Given the description of an element on the screen output the (x, y) to click on. 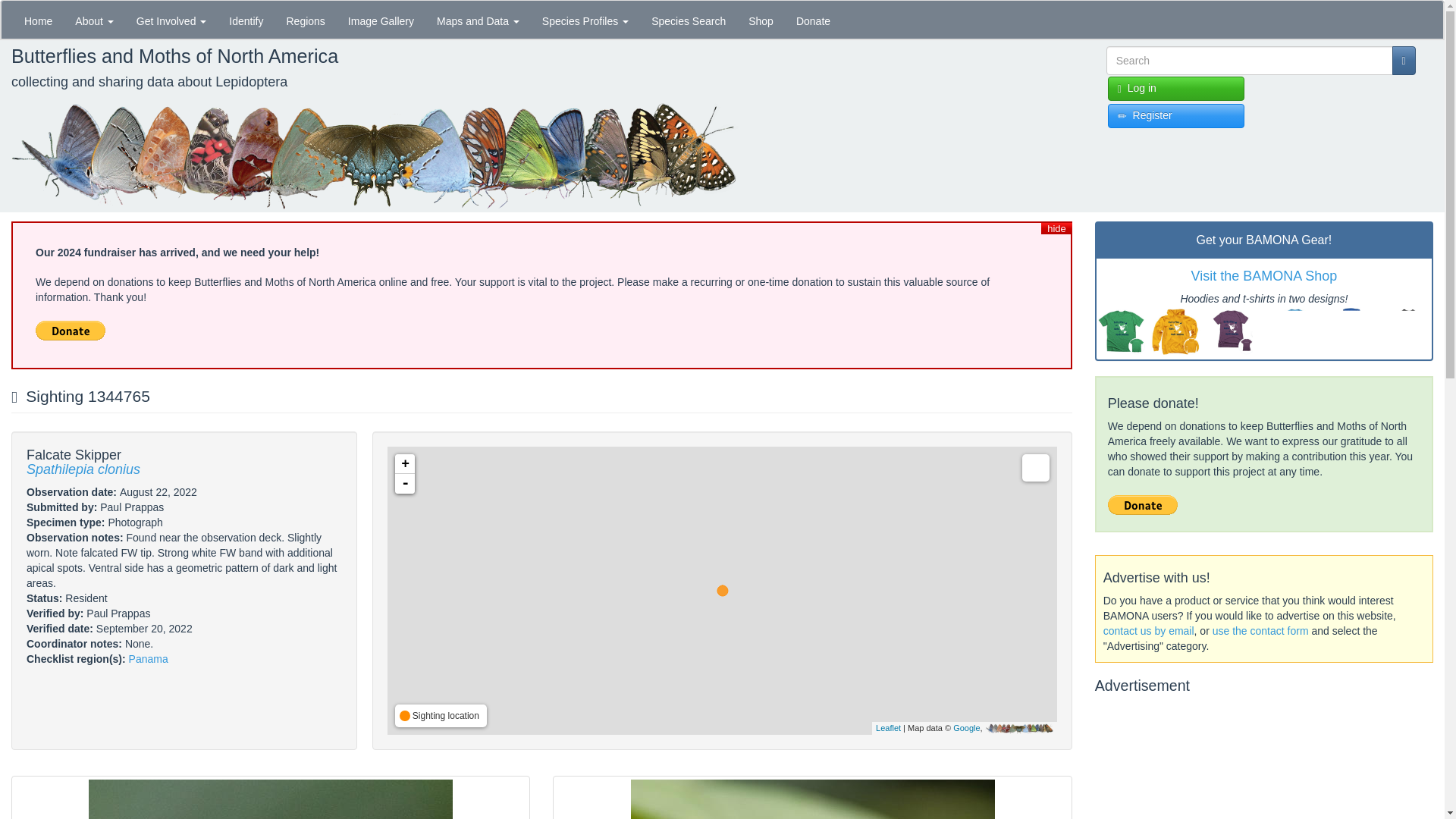
Maps and Data (478, 19)
Donate (812, 19)
Shop (760, 19)
Regions (305, 19)
Species Profiles (585, 19)
About (93, 19)
  Log in (1176, 88)
Get Involved (171, 19)
  Register (1176, 115)
Identify (245, 19)
